Given the description of an element on the screen output the (x, y) to click on. 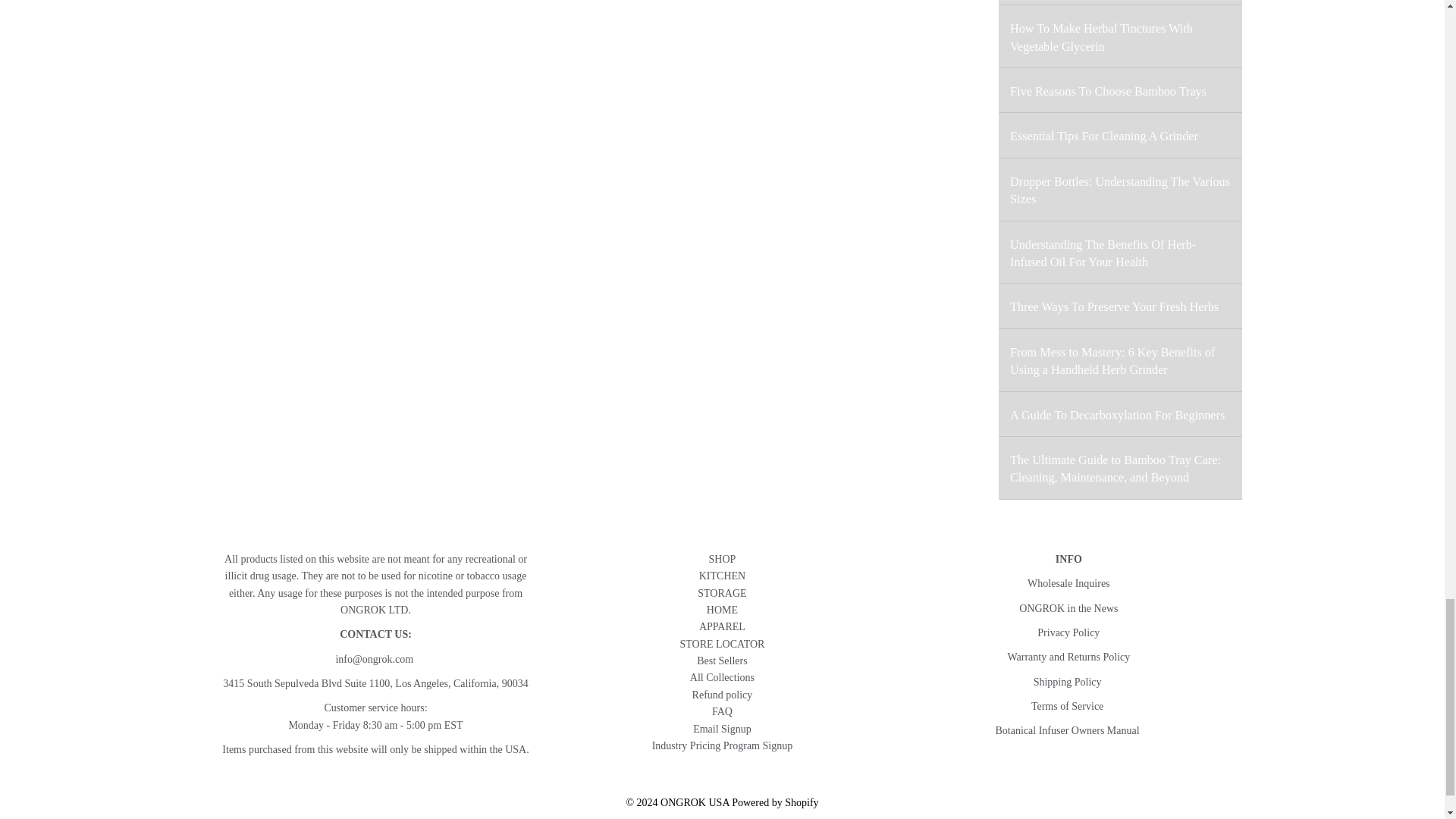
Wholesale (1068, 583)
In the News (1068, 608)
Contact Us (375, 633)
